Given the description of an element on the screen output the (x, y) to click on. 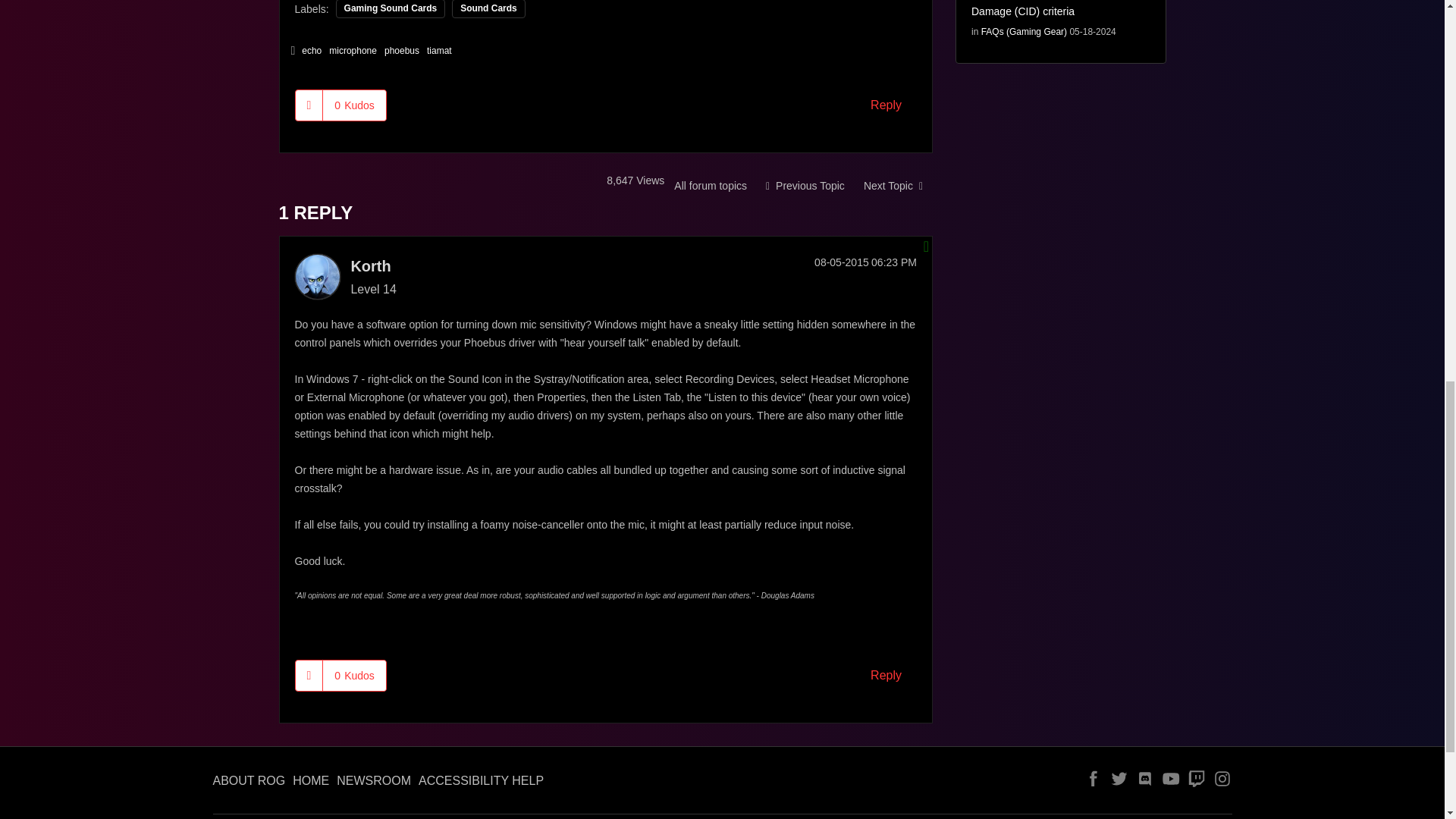
Click here to give kudos to this post. (309, 675)
Gaming Sound Cards (710, 185)
Click here to give kudos to this post. (309, 105)
The total number of kudos this post has received. (354, 675)
Korth (316, 276)
The total number of kudos this post has received. (354, 105)
1.08 drivers missing microphone noise cancellation? (893, 185)
